Given the description of an element on the screen output the (x, y) to click on. 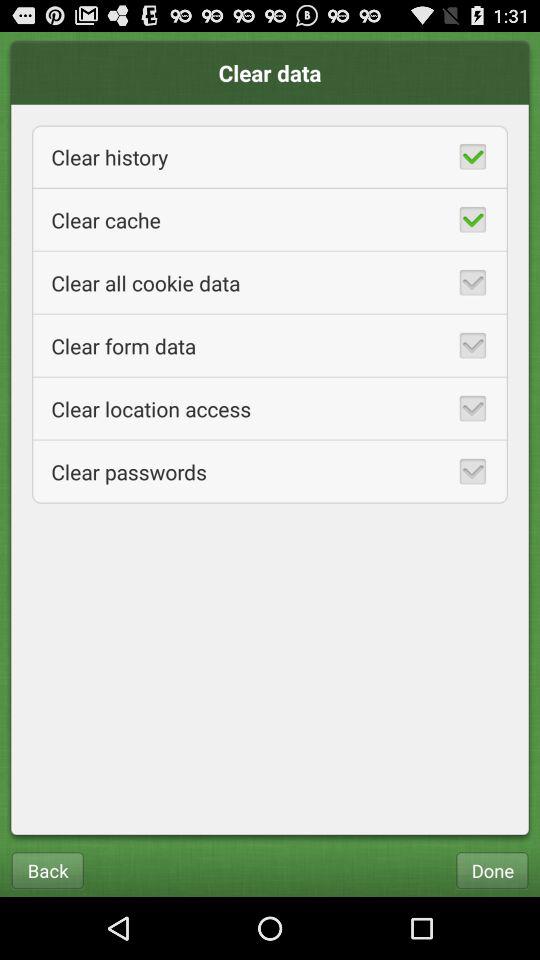
choose icon below clear cache icon (269, 282)
